Given the description of an element on the screen output the (x, y) to click on. 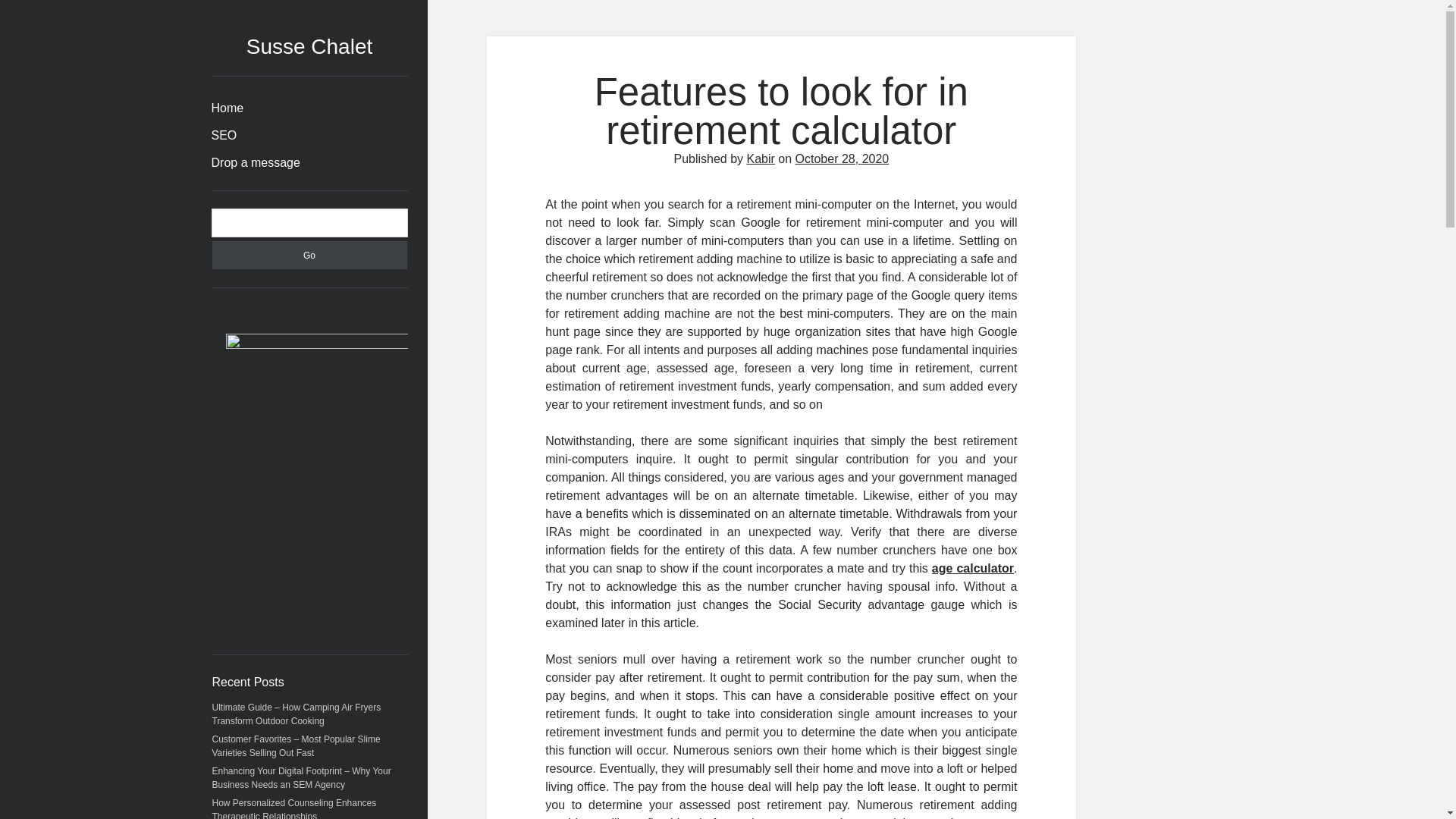
Susse Chalet (309, 46)
Go (309, 254)
Search for: (309, 222)
Go (309, 254)
Drop a message (255, 162)
SEO (223, 135)
Home (227, 108)
Go (309, 254)
